Given the description of an element on the screen output the (x, y) to click on. 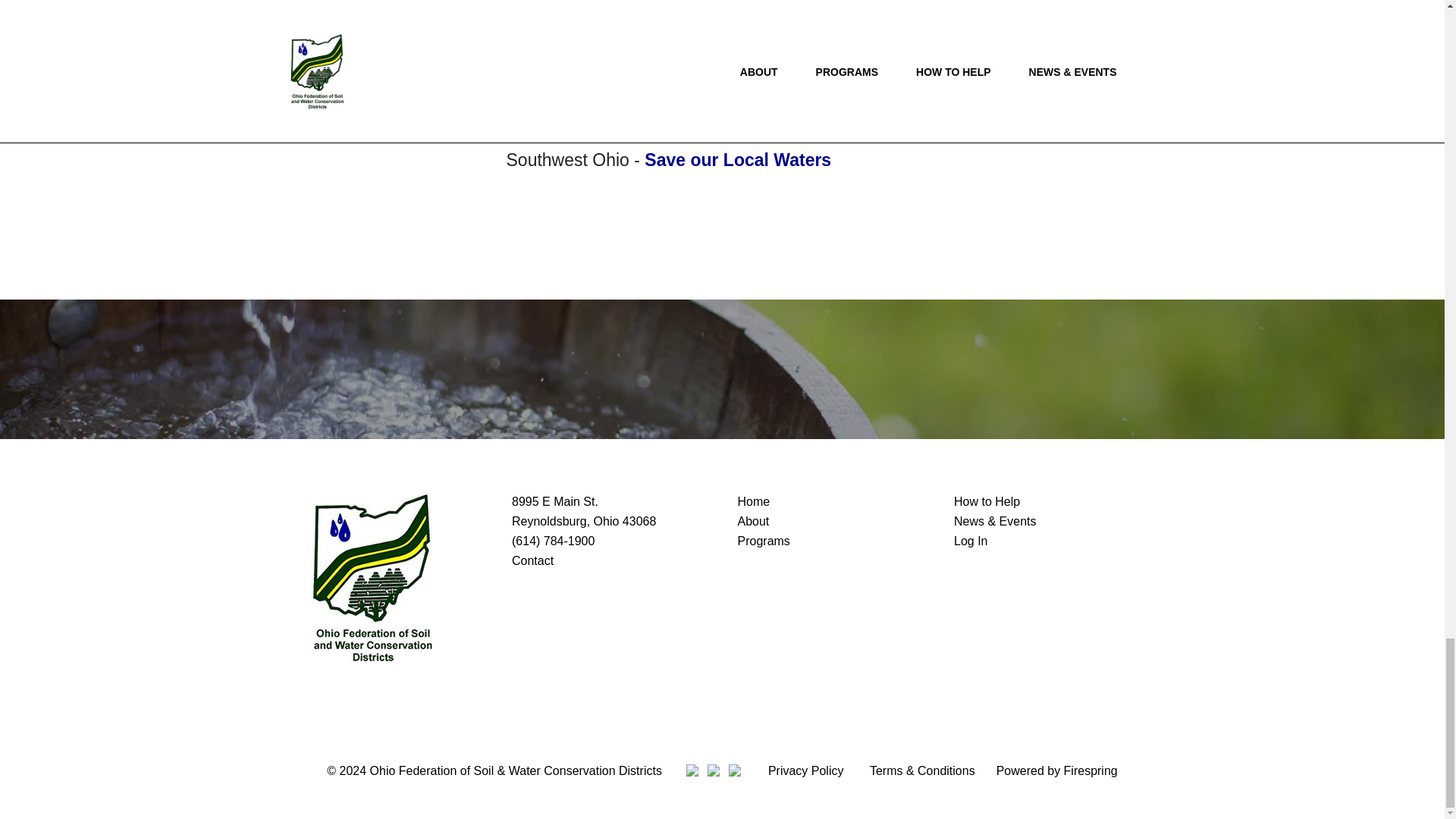
logo (371, 577)
